Given the description of an element on the screen output the (x, y) to click on. 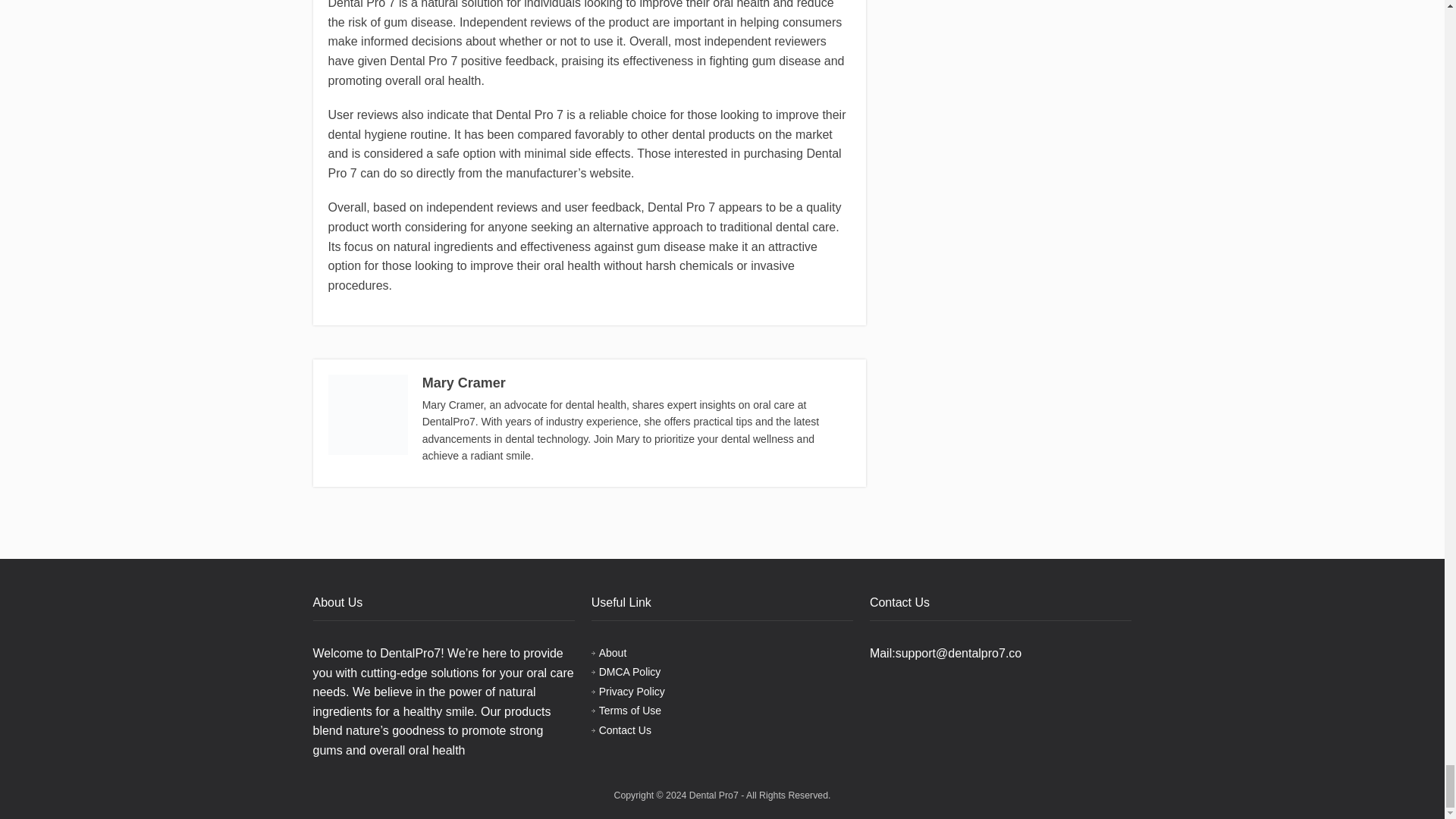
Privacy Policy (631, 691)
Contact Us (624, 729)
Terms of Use (629, 710)
About (612, 653)
DMCA Policy (629, 671)
